Given the description of an element on the screen output the (x, y) to click on. 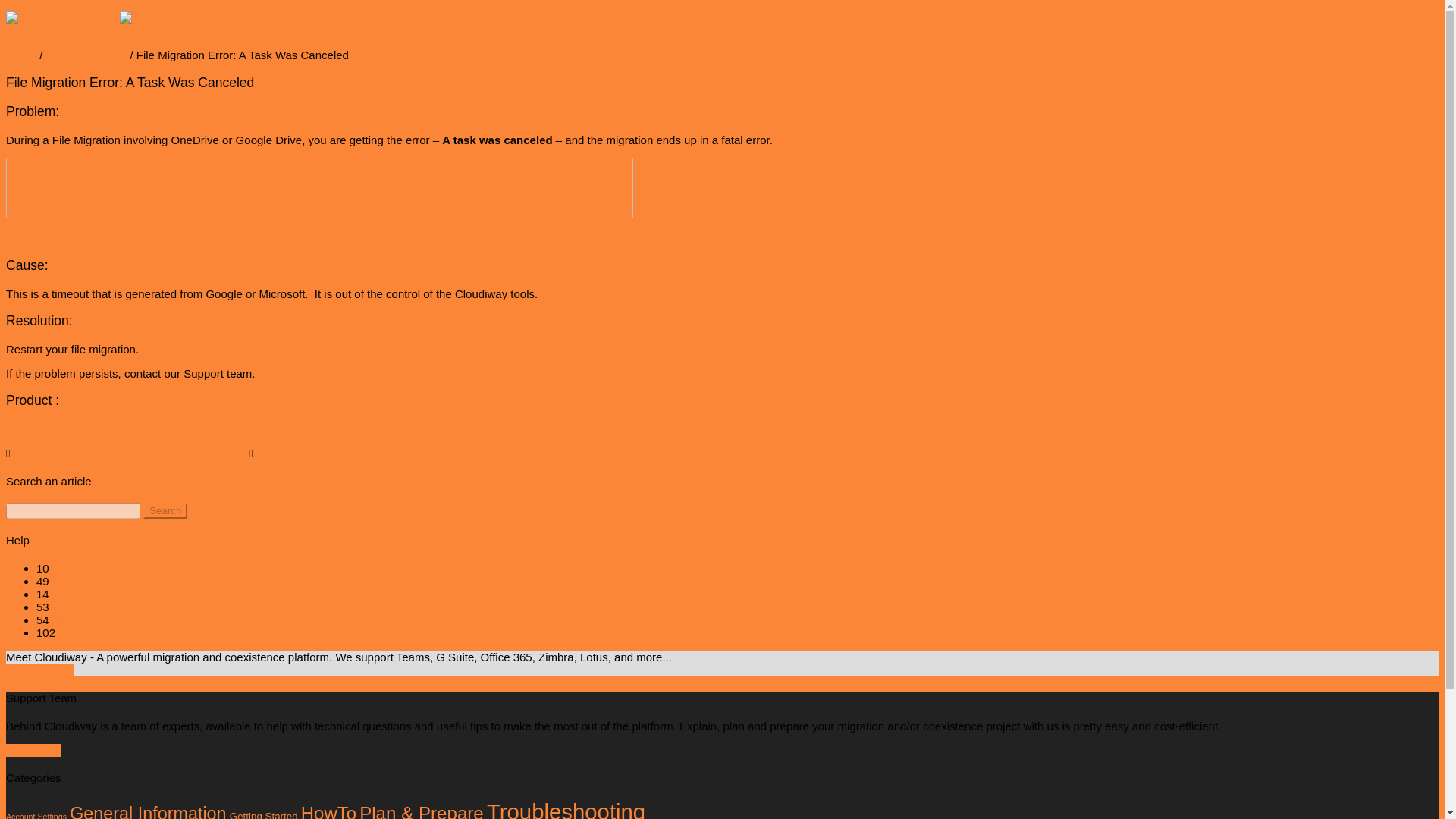
Home (20, 54)
View all posts in Account Settings (92, 567)
help.cloudiway.com (117, 17)
View all posts in General Information (99, 581)
View all posts in HowTo (66, 606)
Register Now (39, 669)
Mail Migration (210, 452)
help.cloudiway.com (20, 54)
Account Settings (35, 815)
HowTo (328, 811)
Google Workspace (126, 452)
Search (164, 510)
Troubleshooting (85, 54)
Account Settings (92, 567)
General Information (147, 811)
